Given the description of an element on the screen output the (x, y) to click on. 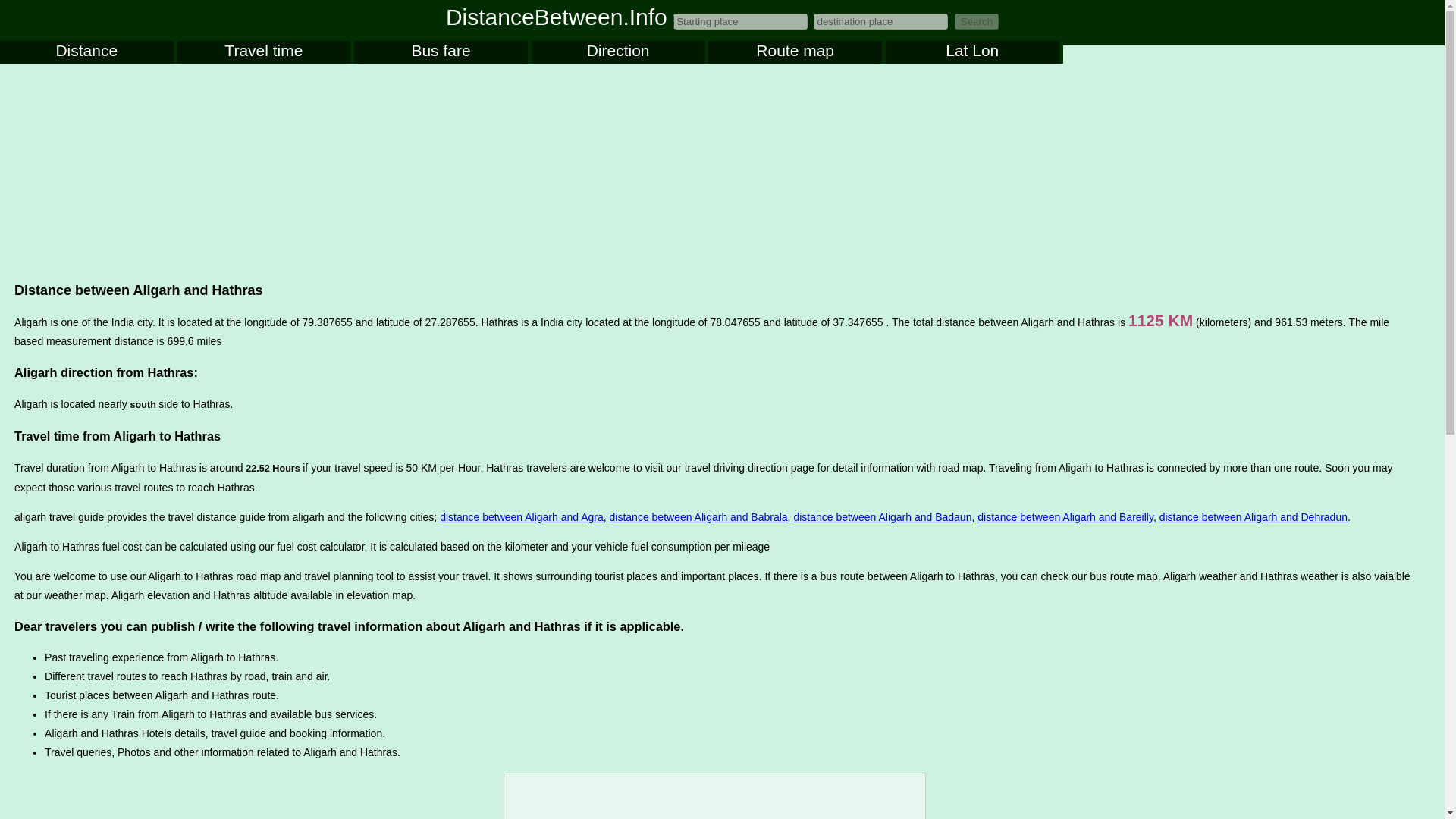
Bus fare (440, 51)
Lat Lon (972, 51)
distance between Aligarh and Babrala (698, 517)
destination place (880, 21)
distance between Aligarh and Badaun (882, 517)
Starting place (740, 21)
Distance (86, 51)
distance between Aligarh and Dehradun (1253, 517)
distance between Aligarh and Agra (521, 517)
